Given the description of an element on the screen output the (x, y) to click on. 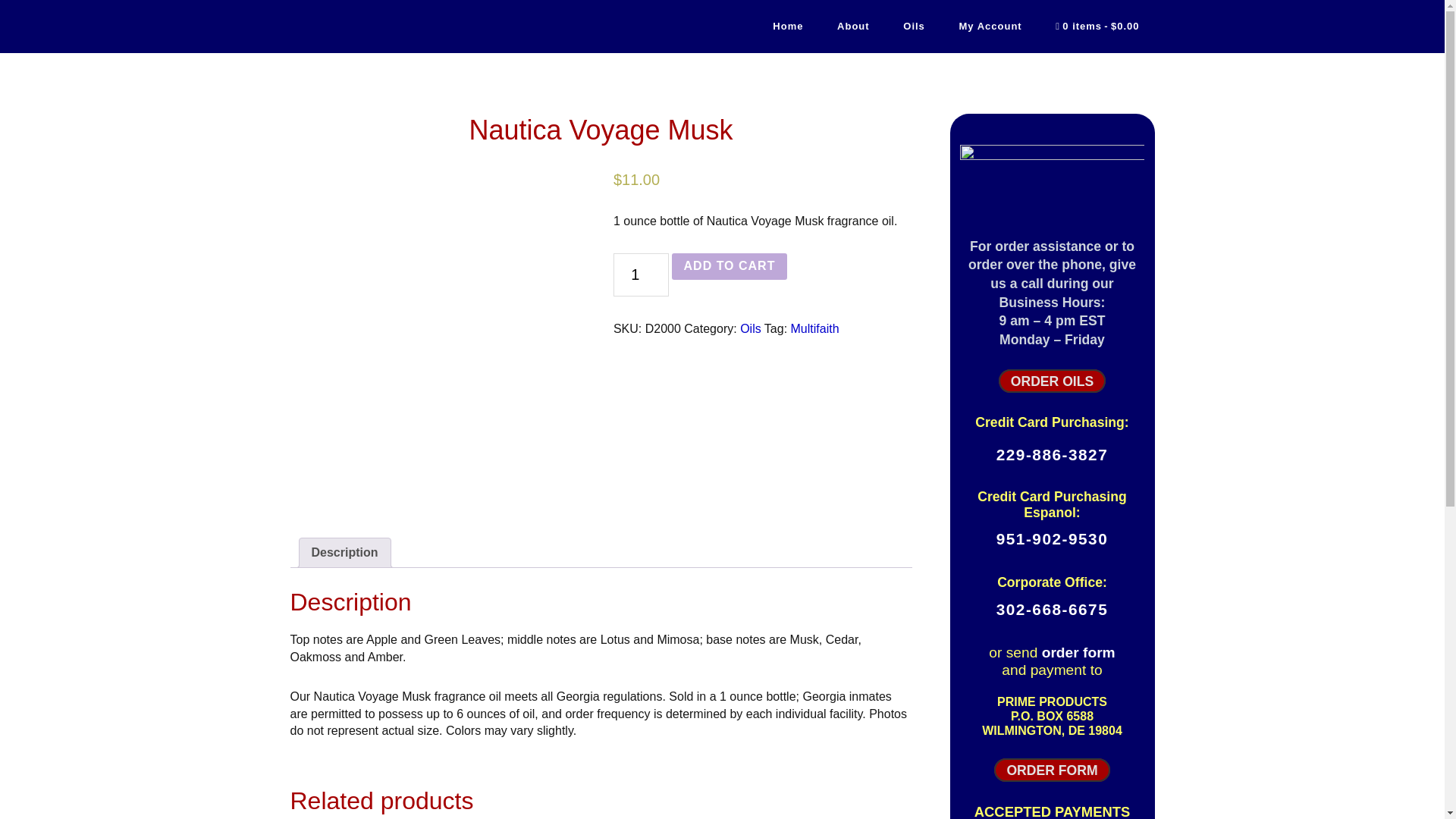
Start shopping (1097, 26)
Oils (750, 328)
ADD TO CART (729, 266)
229-886-3827 (1051, 454)
ORDER FORM (1051, 770)
order form (1078, 652)
Description (344, 552)
ORDER OILS (1052, 381)
OILS FOR RELIGIOUS SERVICES GEORGIA (425, 26)
My Account (989, 25)
